Given the description of an element on the screen output the (x, y) to click on. 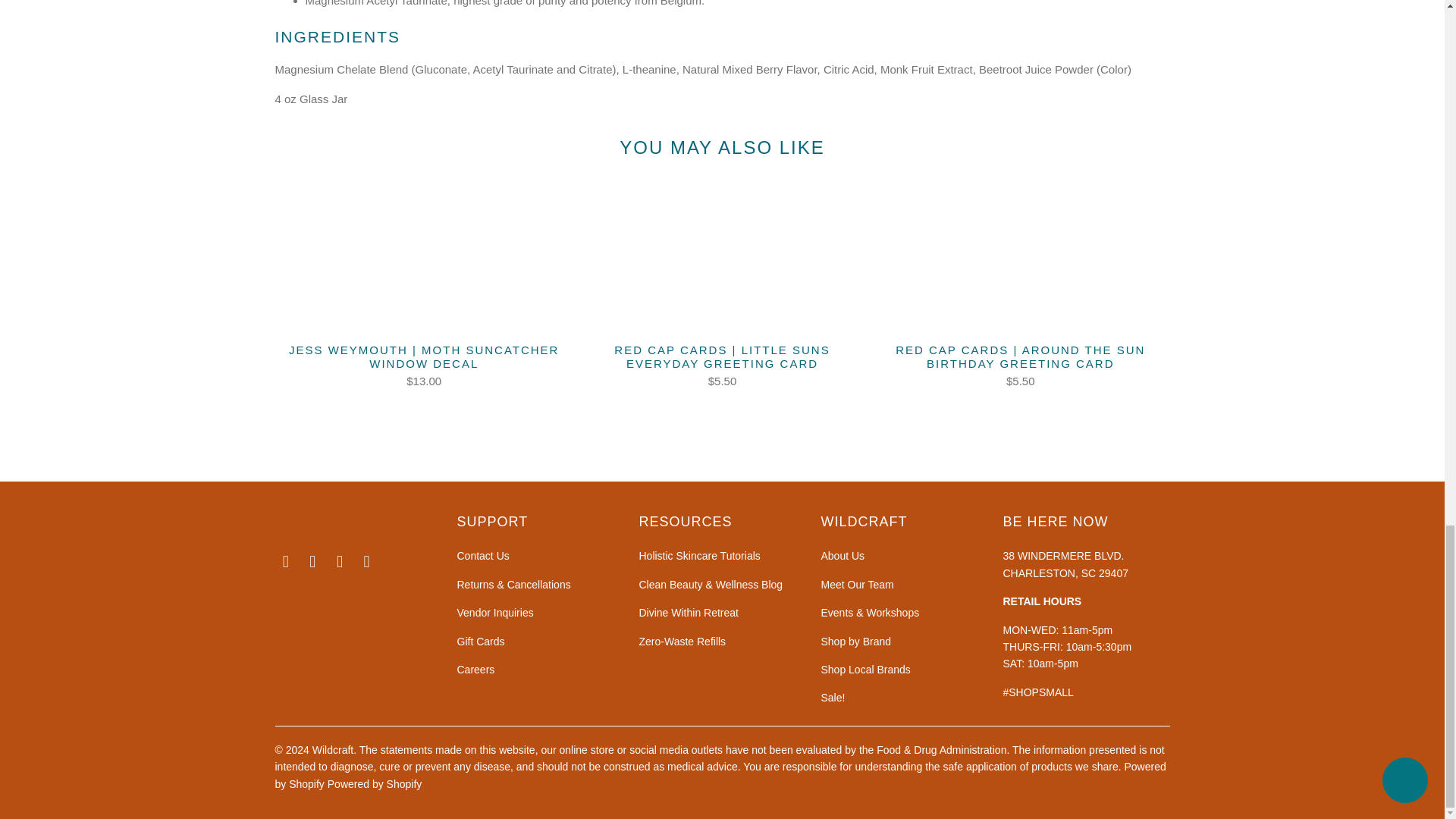
Wildcraft on Instagram (312, 561)
Wildcraft on TikTok (340, 561)
Wildcraft on YouTube (366, 561)
Wildcraft on Facebook (286, 561)
